Given the description of an element on the screen output the (x, y) to click on. 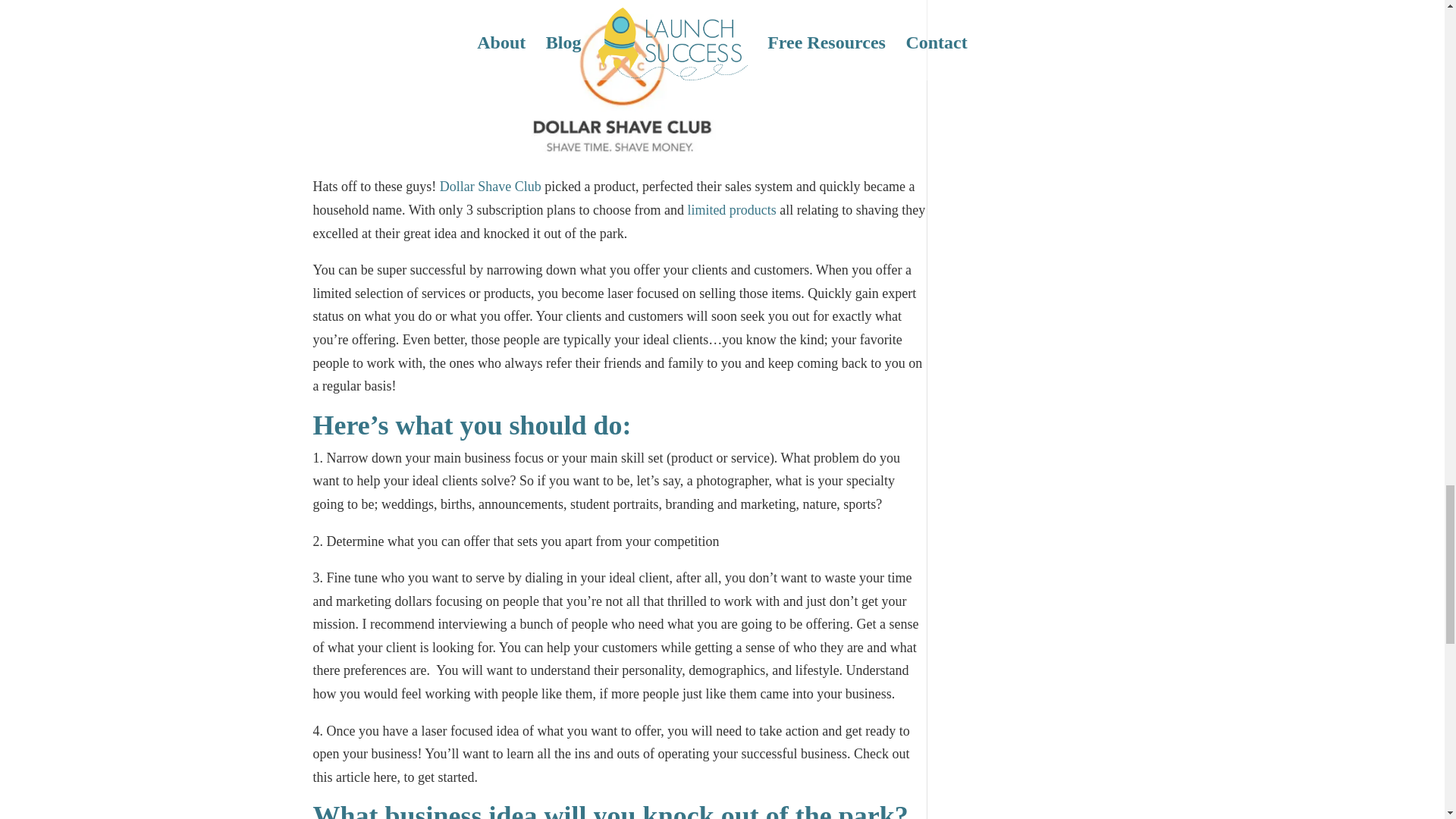
limited products (731, 209)
Dollar Shave Club (490, 186)
